Given the description of an element on the screen output the (x, y) to click on. 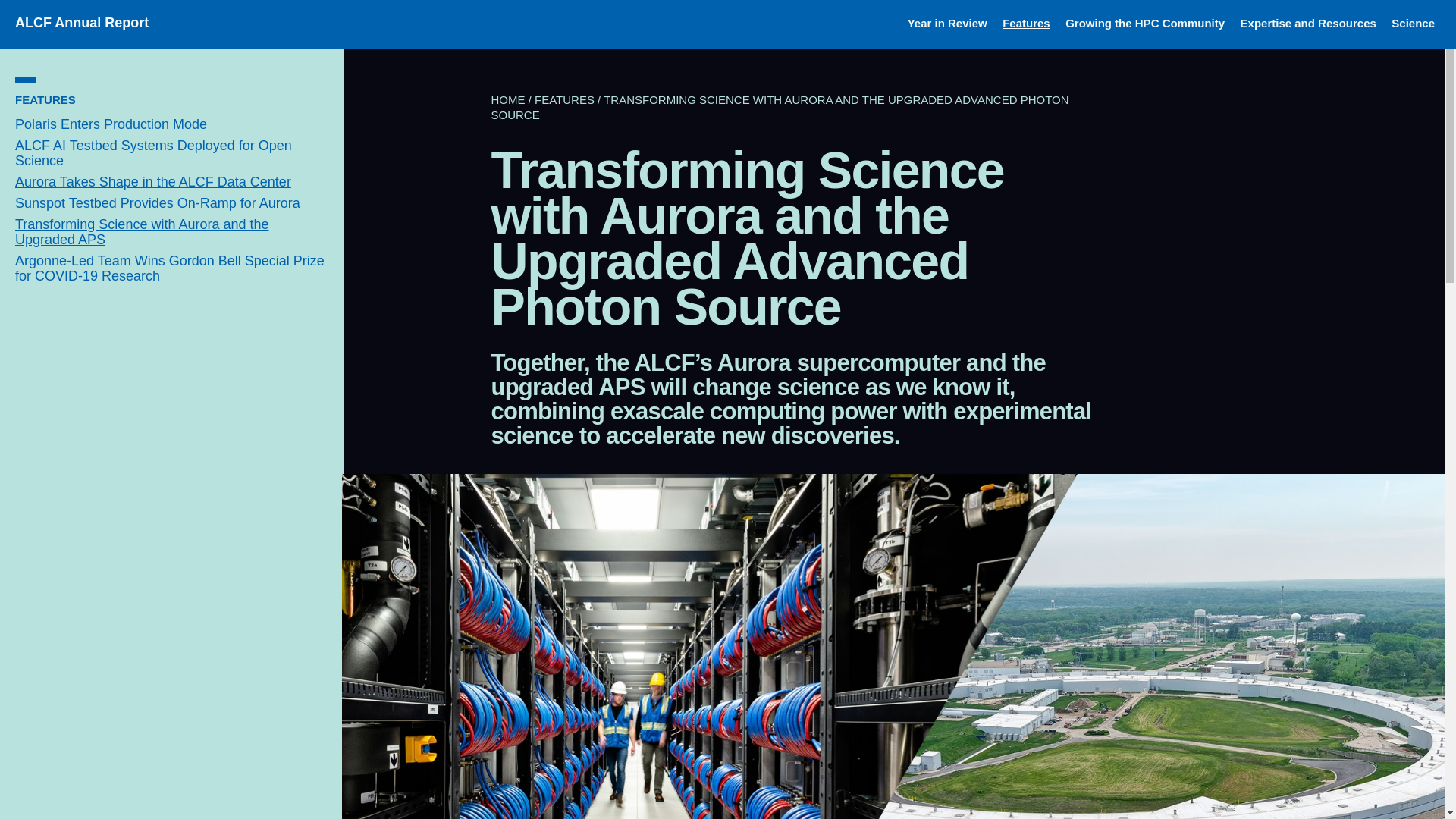
Growing the HPC Community (1144, 22)
ALCF Annual Report (81, 22)
Expertise and Resources (1307, 22)
Science (1412, 22)
Year in Review (947, 22)
Aurora Takes Shape in the ALCF Data Center (152, 181)
Features (1026, 22)
Polaris Enters Production Mode (110, 124)
Transforming Science with Aurora and the Upgraded APS (141, 232)
Sunspot Testbed Provides On-Ramp for Aurora (156, 202)
FEATURES (44, 99)
ALCF AI Testbed Systems Deployed for Open Science (153, 153)
